Given the description of an element on the screen output the (x, y) to click on. 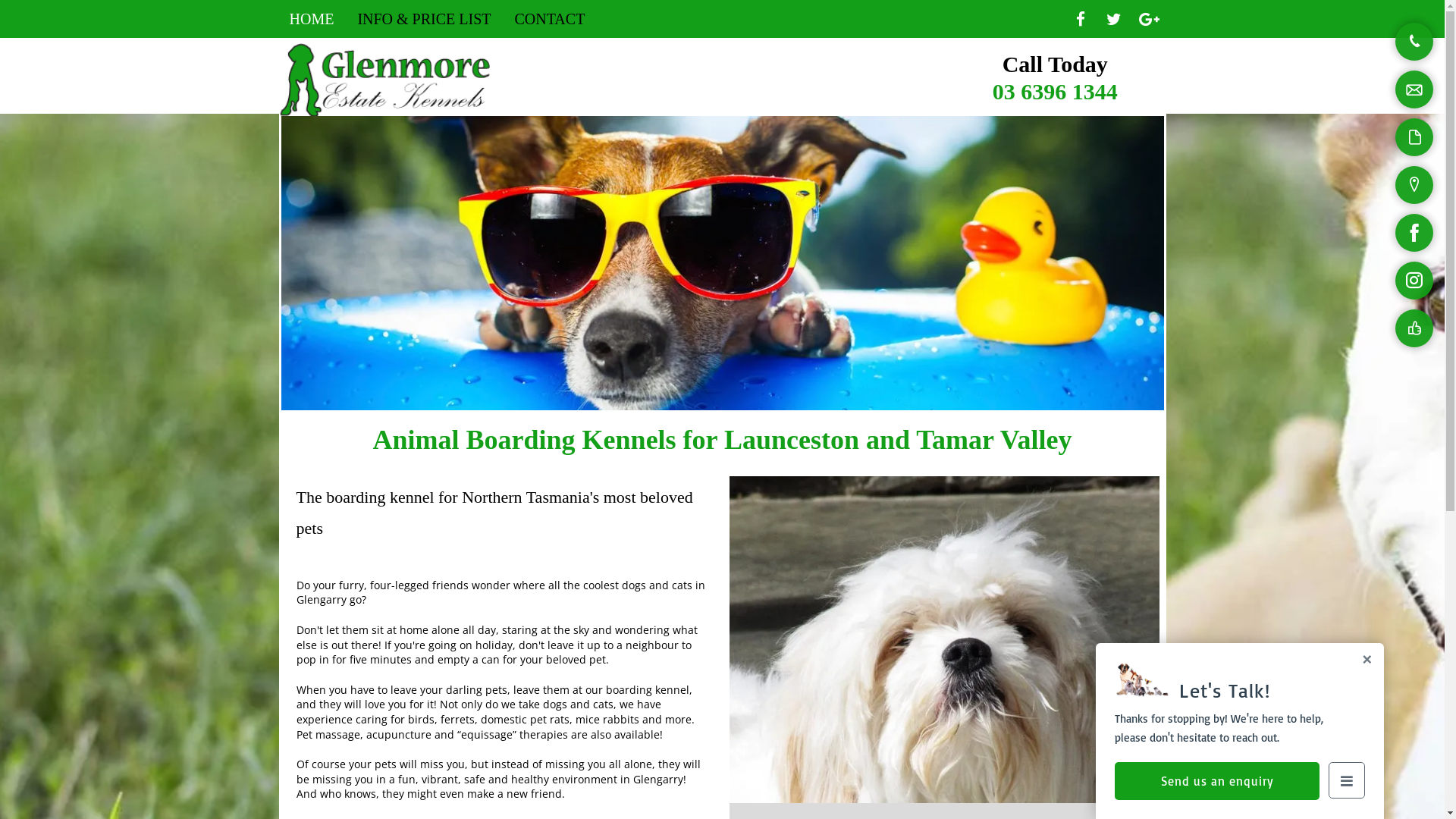
glenmore estate kennels white haired dog Element type: hover (944, 639)
glenmore estate kennels logo Element type: hover (390, 79)
Send us an enquiry Element type: text (1216, 781)
HOME Element type: text (311, 18)
CONTACT Element type: text (549, 18)
glenmore estate kennels dog with shades Element type: hover (721, 263)
03 6396 1344 Element type: text (1054, 90)
INFO & PRICE LIST Element type: text (423, 18)
